Given the description of an element on the screen output the (x, y) to click on. 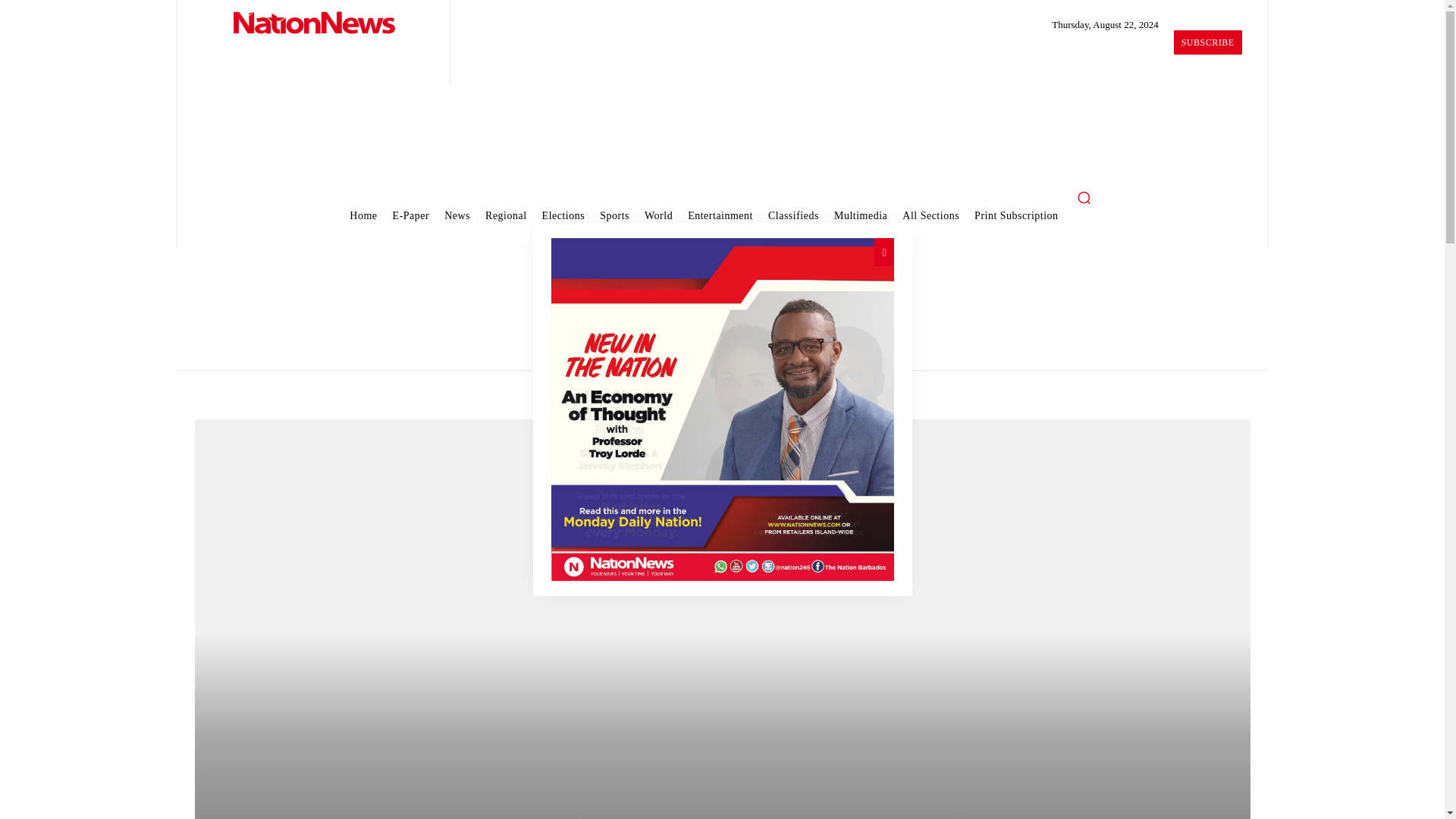
3rd party ad content (722, 133)
Subscribe (1207, 42)
NEW COLOUMIST (721, 409)
